Given the description of an element on the screen output the (x, y) to click on. 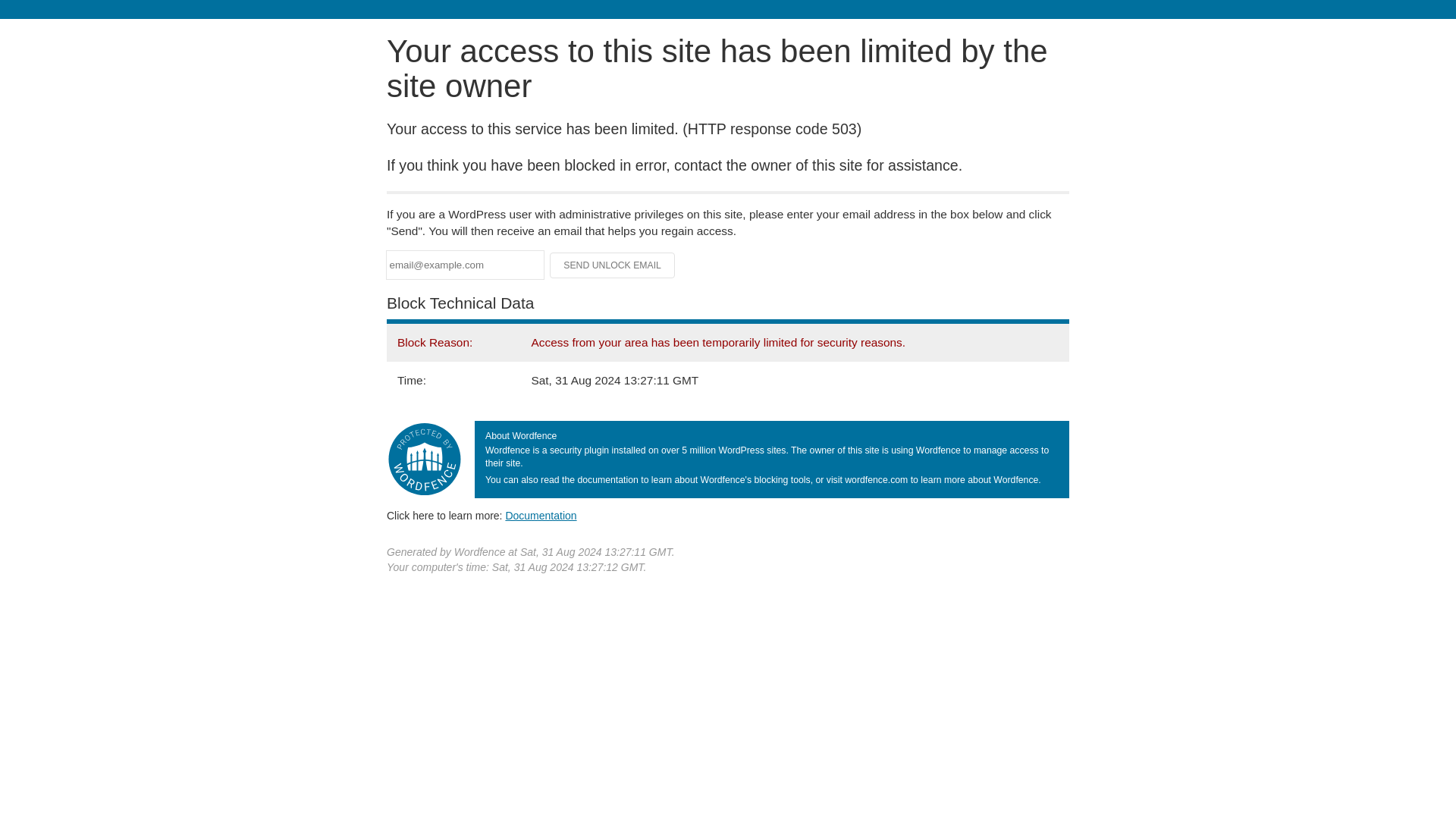
Send Unlock Email (612, 265)
Documentation (540, 515)
Send Unlock Email (612, 265)
